Given the description of an element on the screen output the (x, y) to click on. 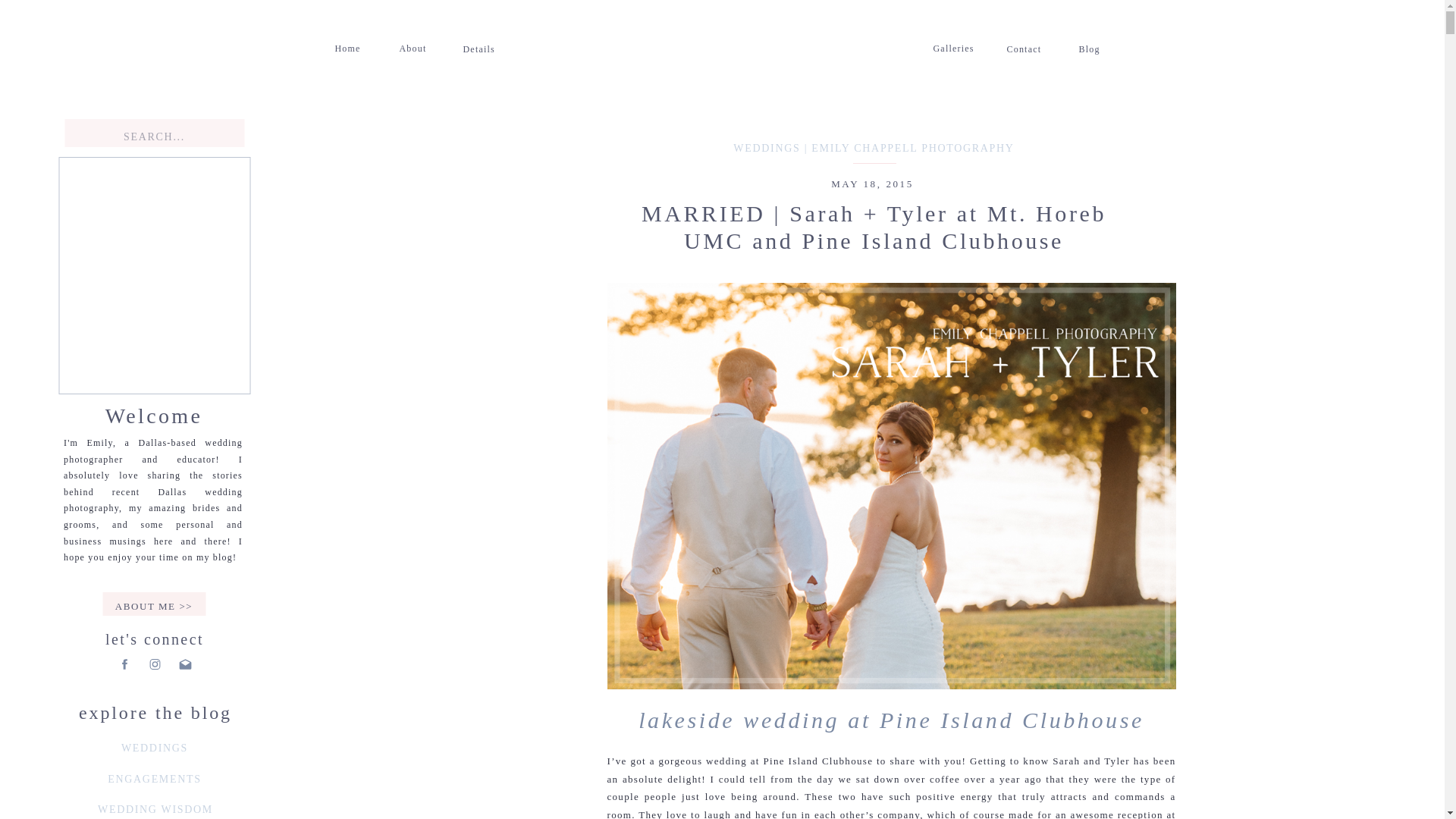
Home (349, 47)
WEDDING WISDOM (155, 809)
ENGAGEMENTS (153, 779)
Details (480, 47)
Contact (1026, 47)
Blog (1090, 47)
About (413, 47)
Galleries (954, 47)
WEDDINGS (153, 748)
